Given the description of an element on the screen output the (x, y) to click on. 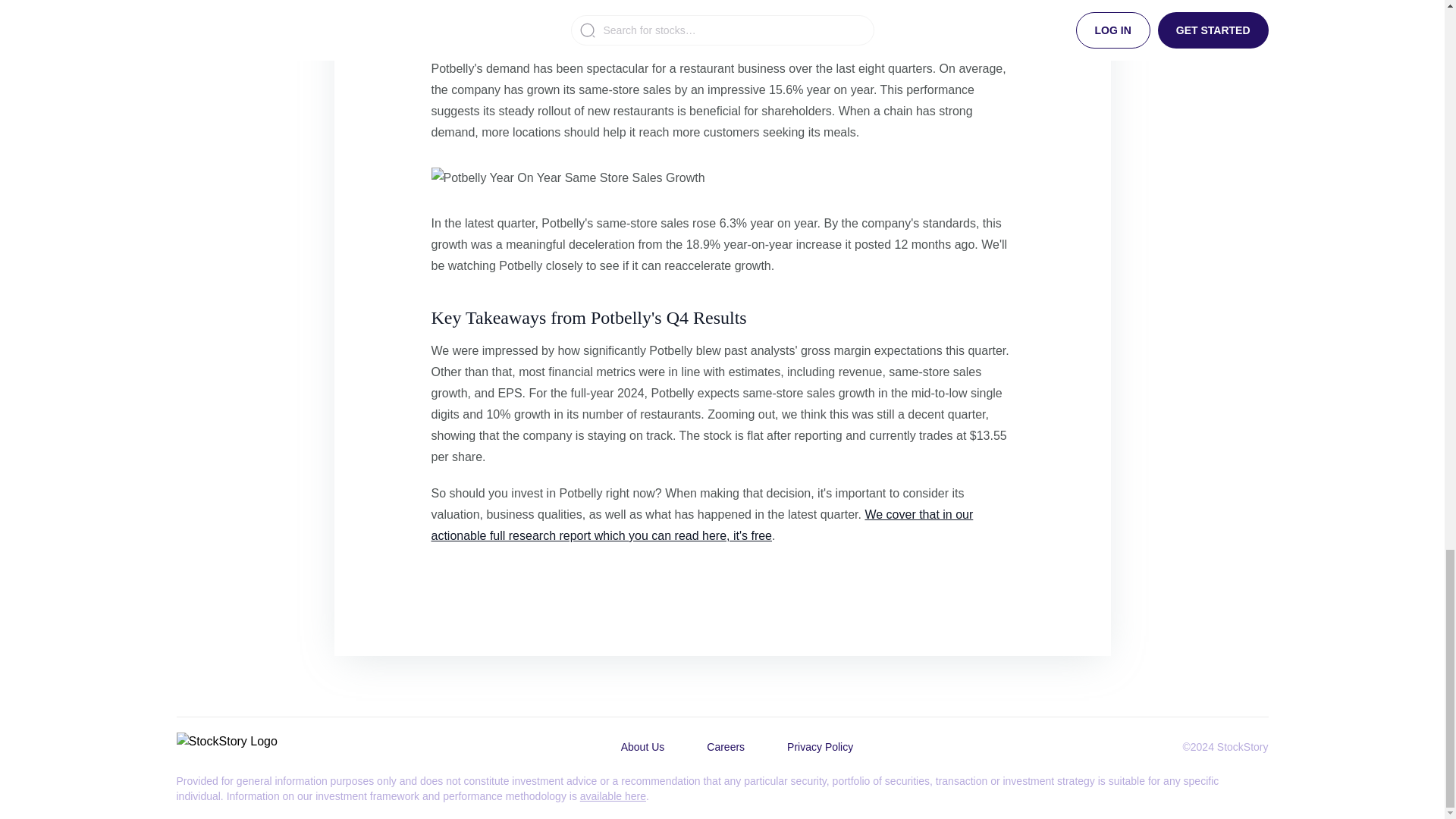
Careers (725, 746)
About Us (642, 746)
available here (612, 796)
Privacy Policy (819, 746)
